Given the description of an element on the screen output the (x, y) to click on. 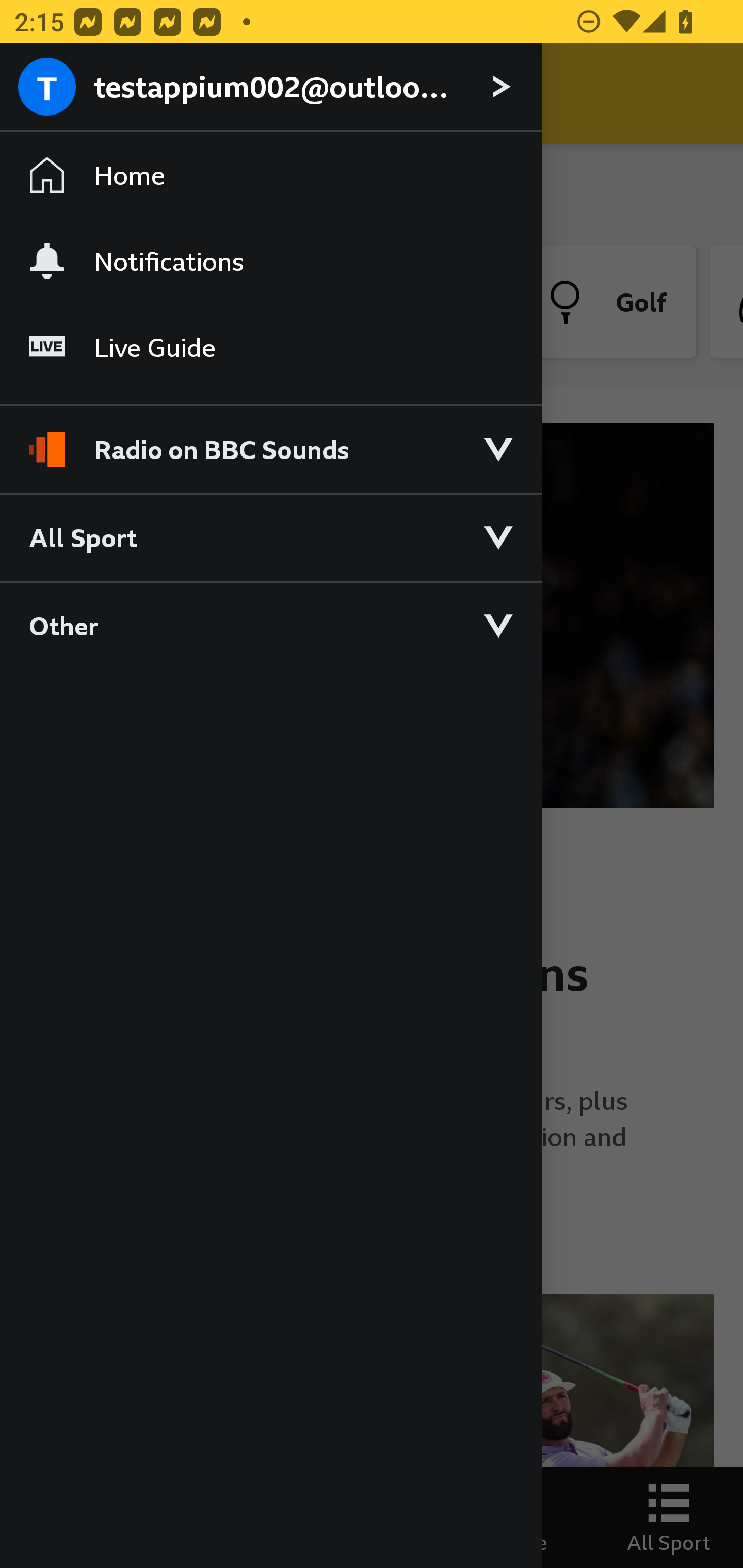
Close Menu (50, 93)
testappium002@outlook.com (270, 87)
Home (270, 174)
Notifications (270, 260)
Live Guide (270, 347)
Radio on BBC Sounds (270, 441)
All Sport (270, 536)
Other (270, 624)
